Given the description of an element on the screen output the (x, y) to click on. 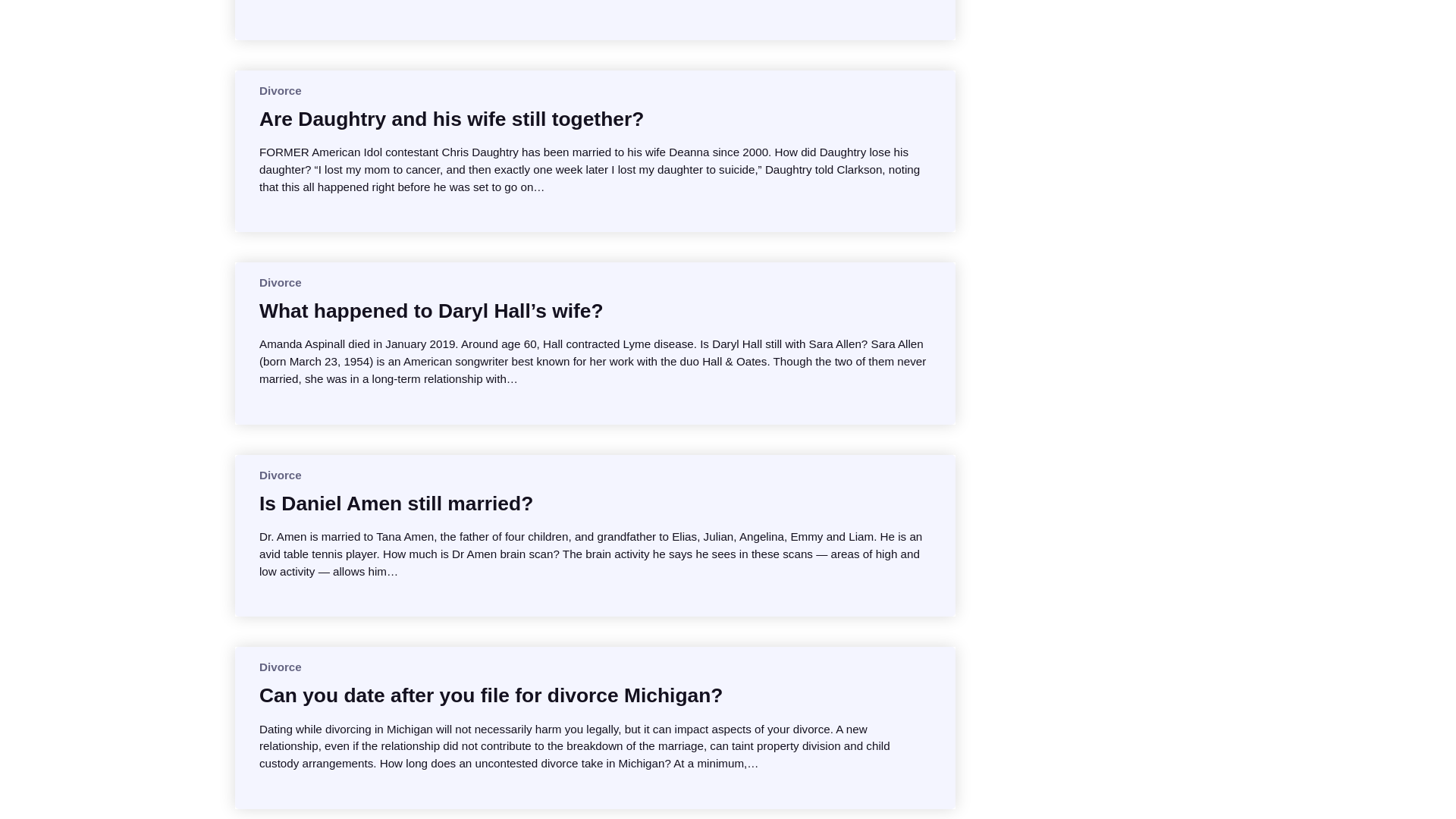
Are Daughtry and his wife still together? (451, 118)
Divorce (280, 90)
Divorce (280, 666)
Divorce (280, 474)
Divorce (280, 282)
Is Daniel Amen still married? (395, 503)
Can you date after you file for divorce Michigan? (490, 695)
